Given the description of an element on the screen output the (x, y) to click on. 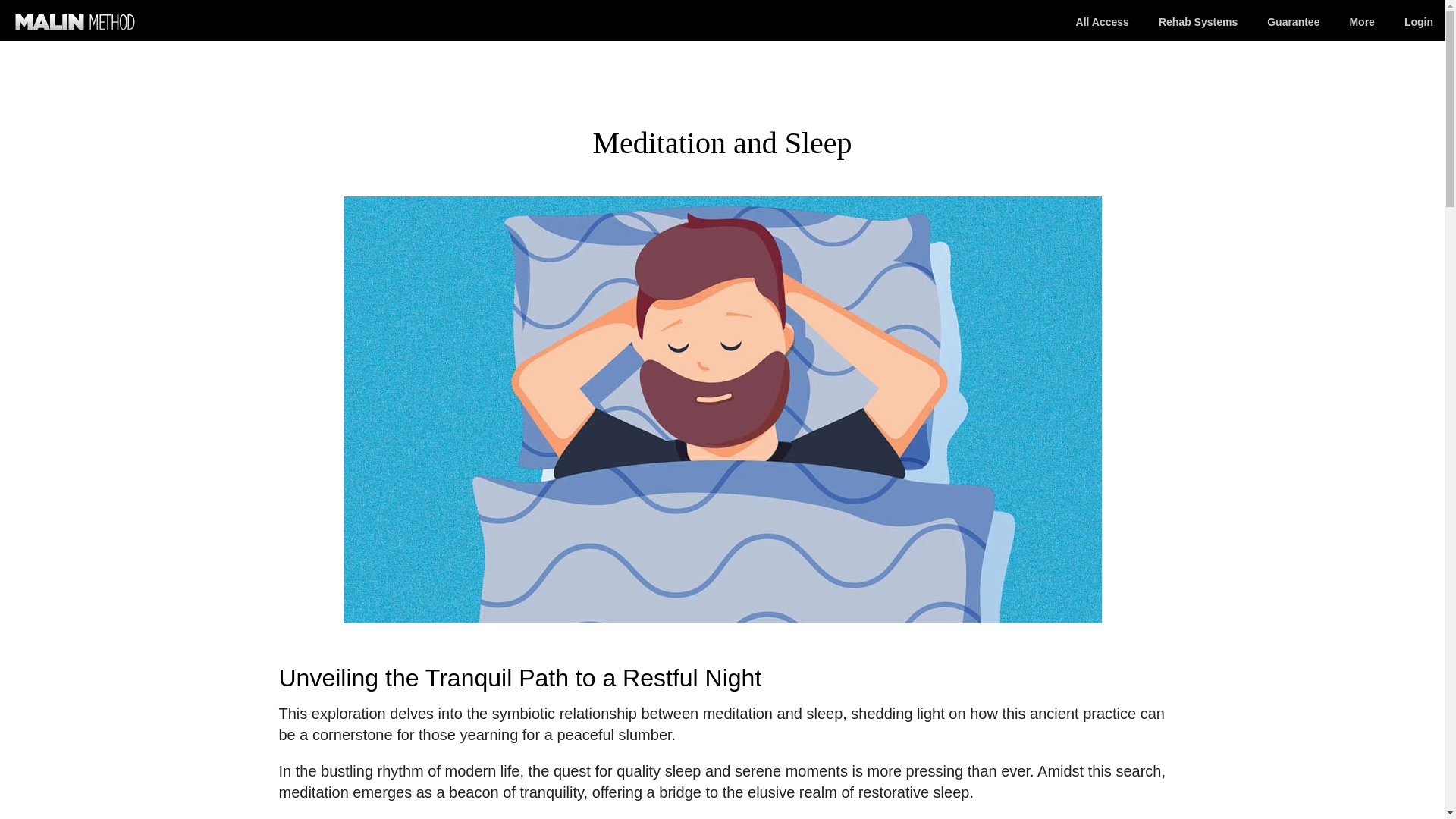
Guarantee (1292, 21)
Rehab Systems (1197, 21)
All Access (1102, 21)
